Given the description of an element on the screen output the (x, y) to click on. 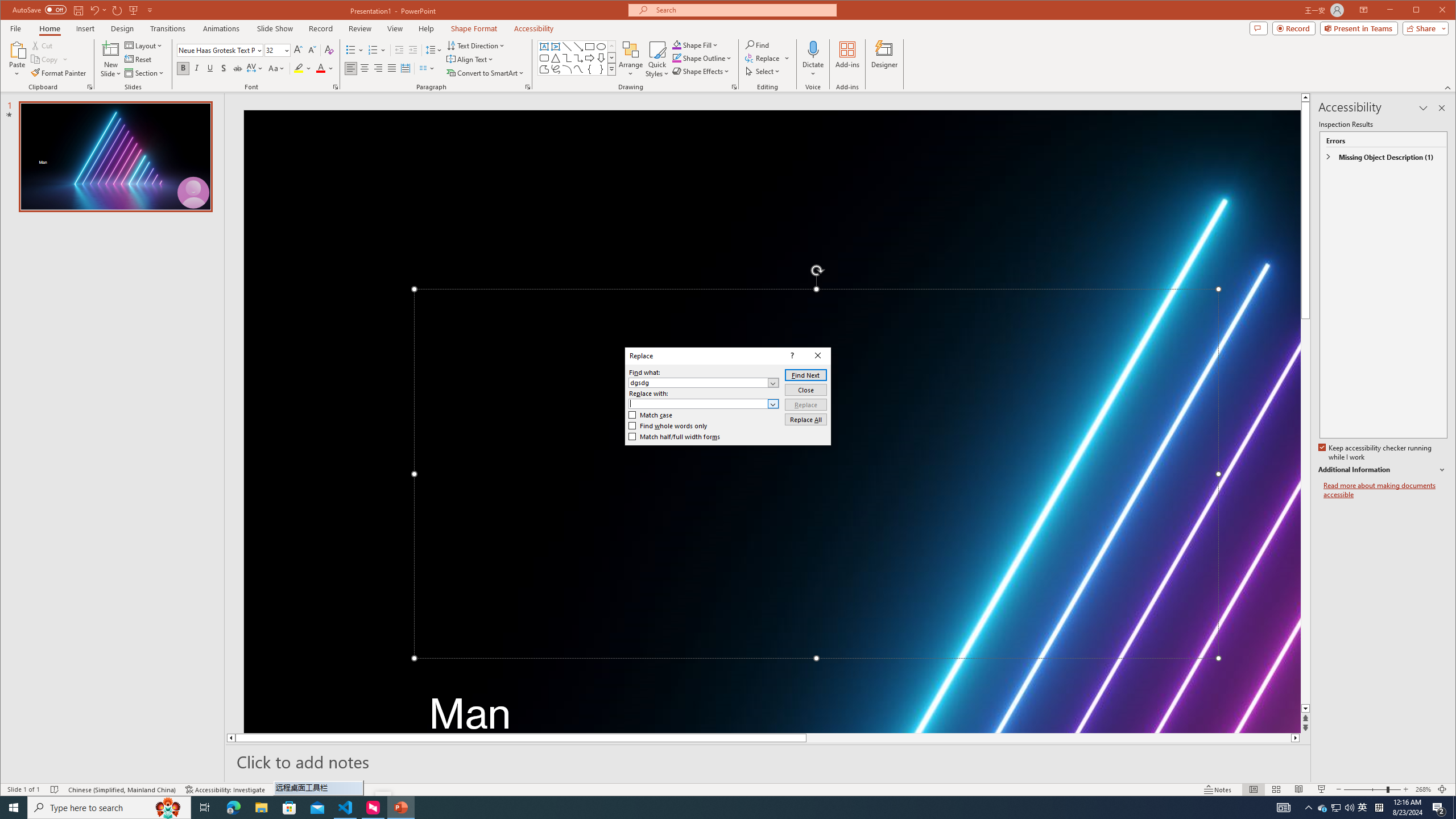
Replace with (703, 403)
Find whole words only (667, 425)
